Given the description of an element on the screen output the (x, y) to click on. 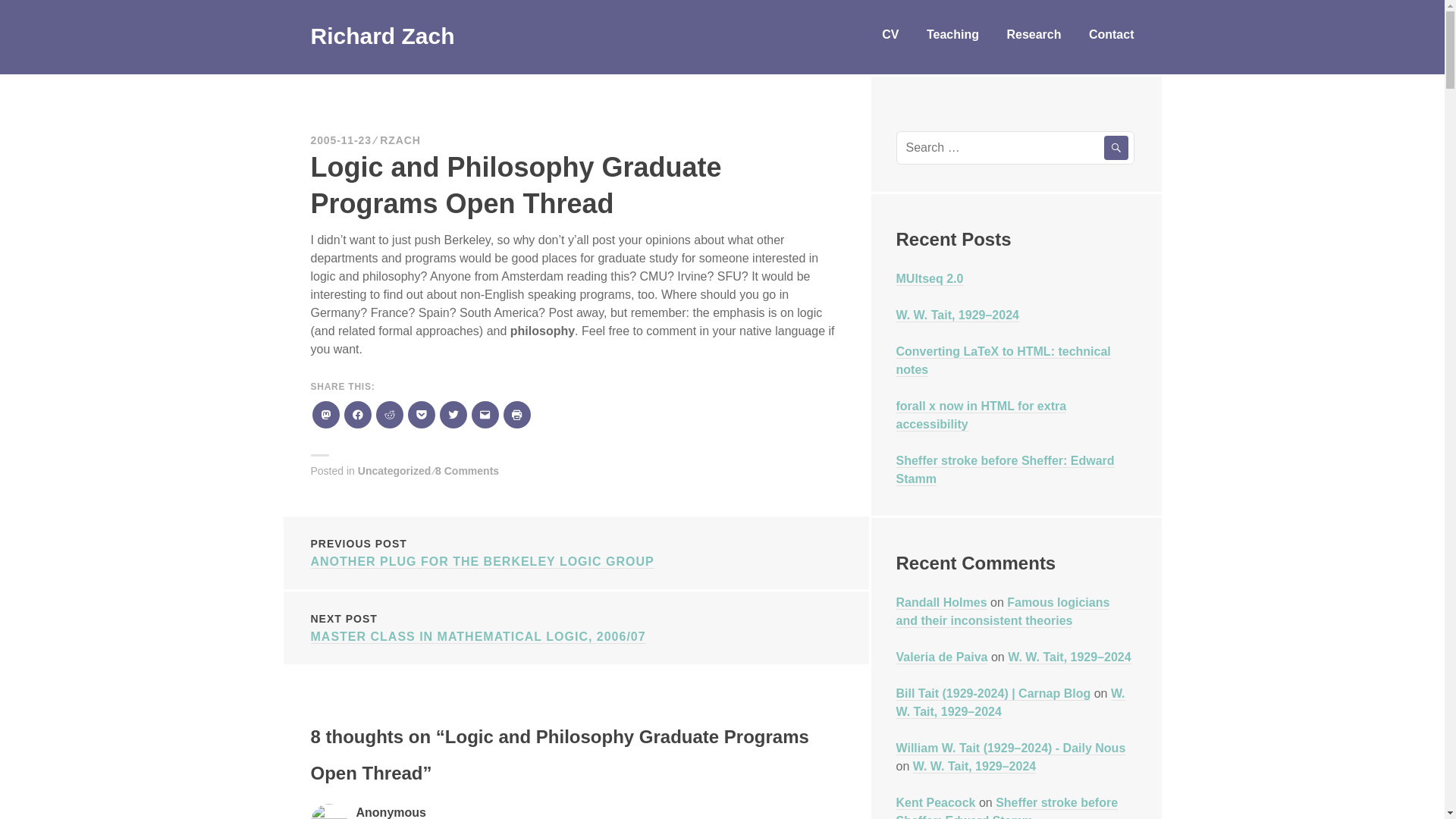
Richard Zach (382, 35)
8 Comments (467, 470)
Click to share on Mastodon (324, 414)
RZACH (400, 140)
Teaching (952, 36)
Click to share on Reddit (387, 414)
Contact (576, 551)
2005-11-23 (1111, 36)
Uncategorized (341, 140)
